Given the description of an element on the screen output the (x, y) to click on. 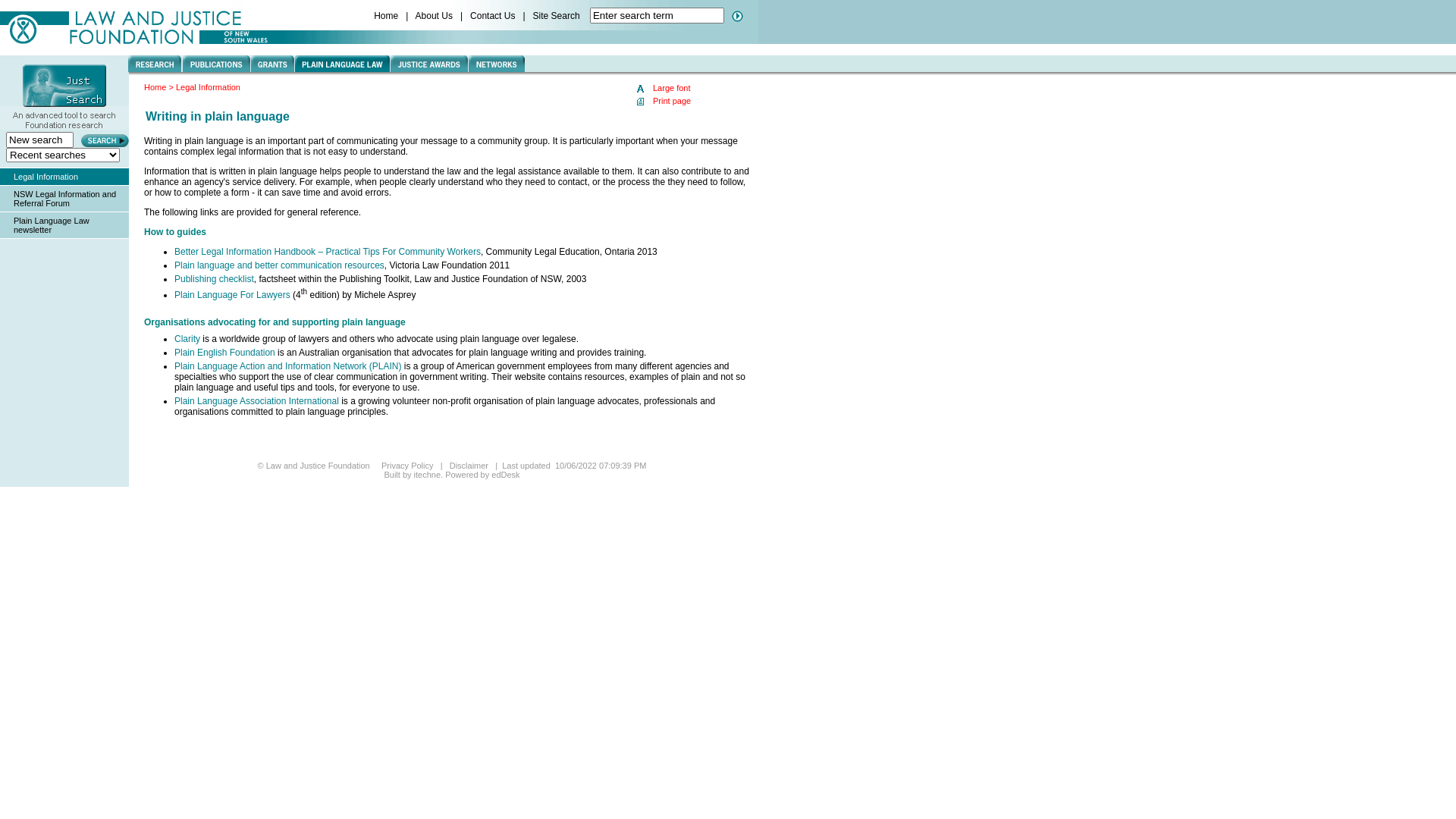
LJF site navigation Element type: hover (443, 65)
Privacy Policy Element type: text (408, 465)
Print page Element type: text (663, 100)
Plain Language Association International Element type: text (256, 400)
Contact Us Element type: text (493, 15)
NSW Legal Information and Referral Forum Element type: text (64, 198)
Plain Language For Lawyers Element type: text (232, 294)
Built by itechne. Powered by edDesk Element type: text (451, 474)
Plain Language Law newsletter Element type: text (51, 225)
Plain Language Action and Information Network (PLAIN) Element type: text (287, 365)
Just search Element type: hover (39, 139)
Publishing checklist Element type: text (214, 278)
Legal Information Element type: text (207, 86)
Clarity Element type: text (187, 338)
Plain English Foundation Element type: text (224, 352)
Large font Element type: text (663, 87)
Home Element type: text (386, 15)
Disclaimer Element type: text (469, 465)
Home Element type: text (155, 86)
Legal Information Element type: text (45, 176)
Plain language and better communication resources Element type: text (279, 265)
About Us Element type: text (435, 15)
Site search Element type: hover (656, 15)
